Given the description of an element on the screen output the (x, y) to click on. 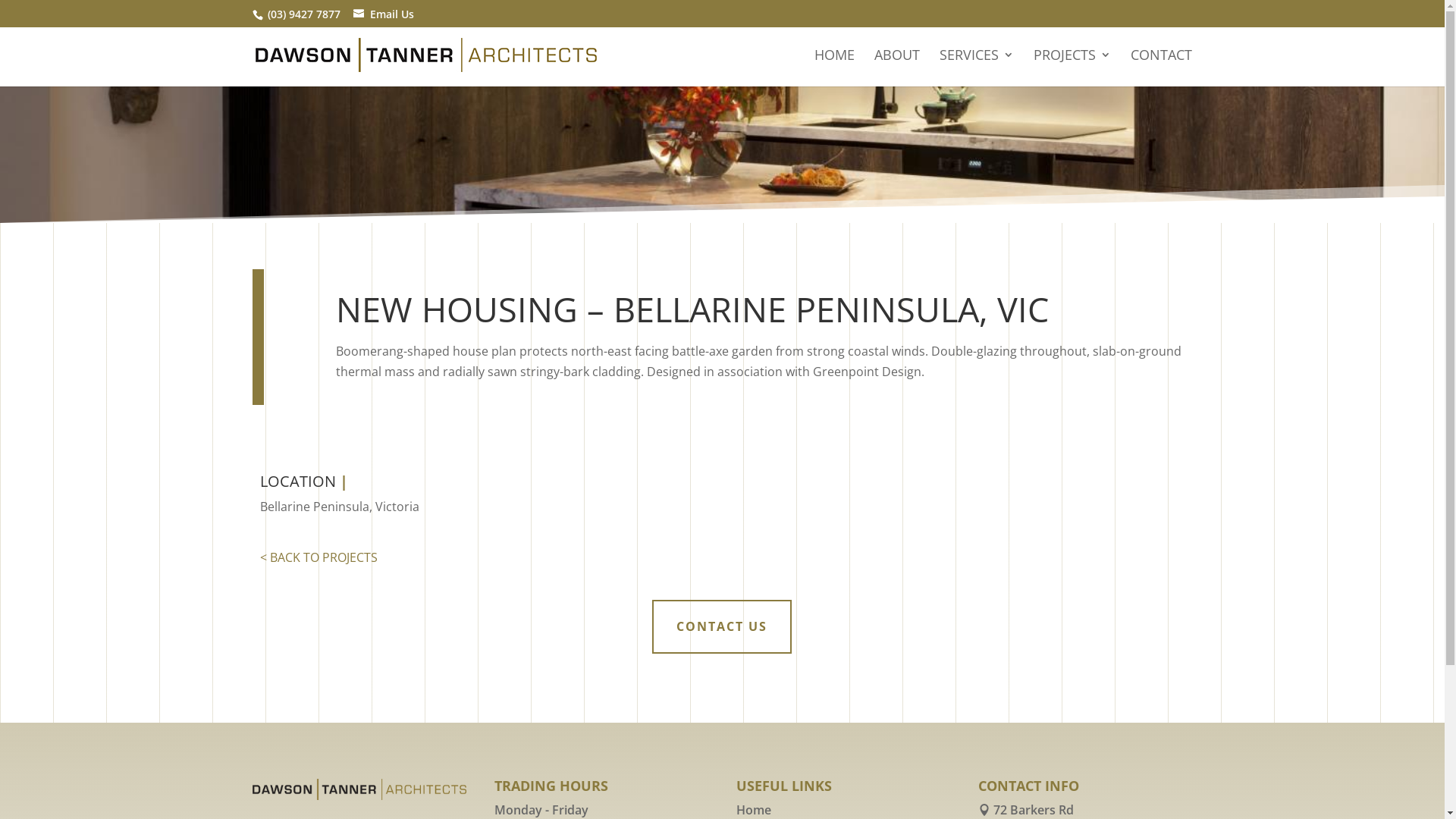
HOME Element type: text (834, 67)
ABOUT Element type: text (896, 67)
Home Element type: text (753, 809)
(03) 9427 7877 Element type: text (303, 13)
< BACK TO PROJECTS Element type: text (318, 557)
SERVICES Element type: text (976, 67)
Email Us Element type: text (392, 13)
PROJECTS Element type: text (1071, 67)
CONTACT Element type: text (1161, 67)
CONTACT US Element type: text (721, 626)
